Given the description of an element on the screen output the (x, y) to click on. 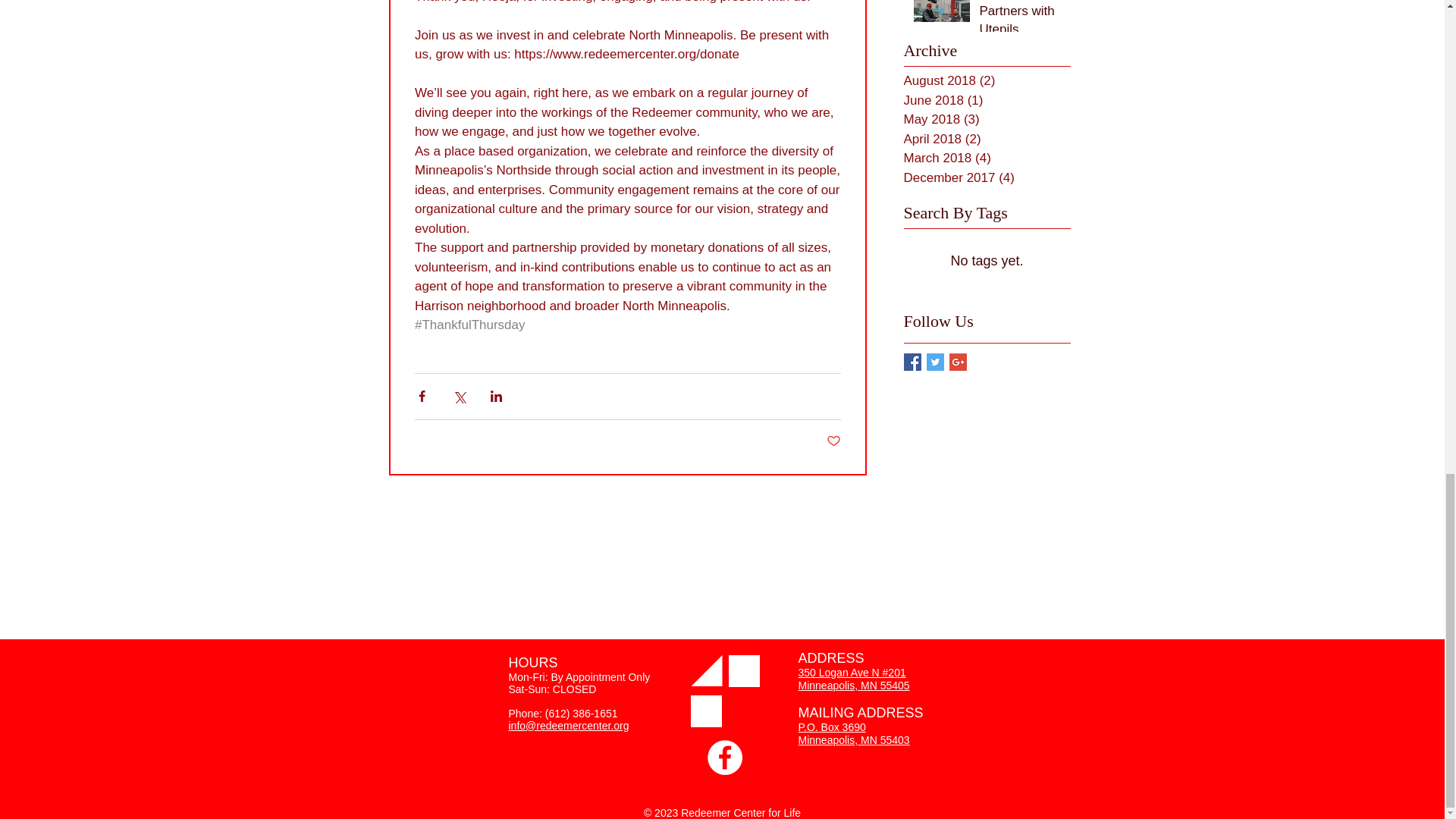
Minneapolis, MN 55405 (852, 685)
Post not marked as liked (834, 441)
Venture North Partners with Utepils Brewing Co. (1020, 22)
